Given the description of an element on the screen output the (x, y) to click on. 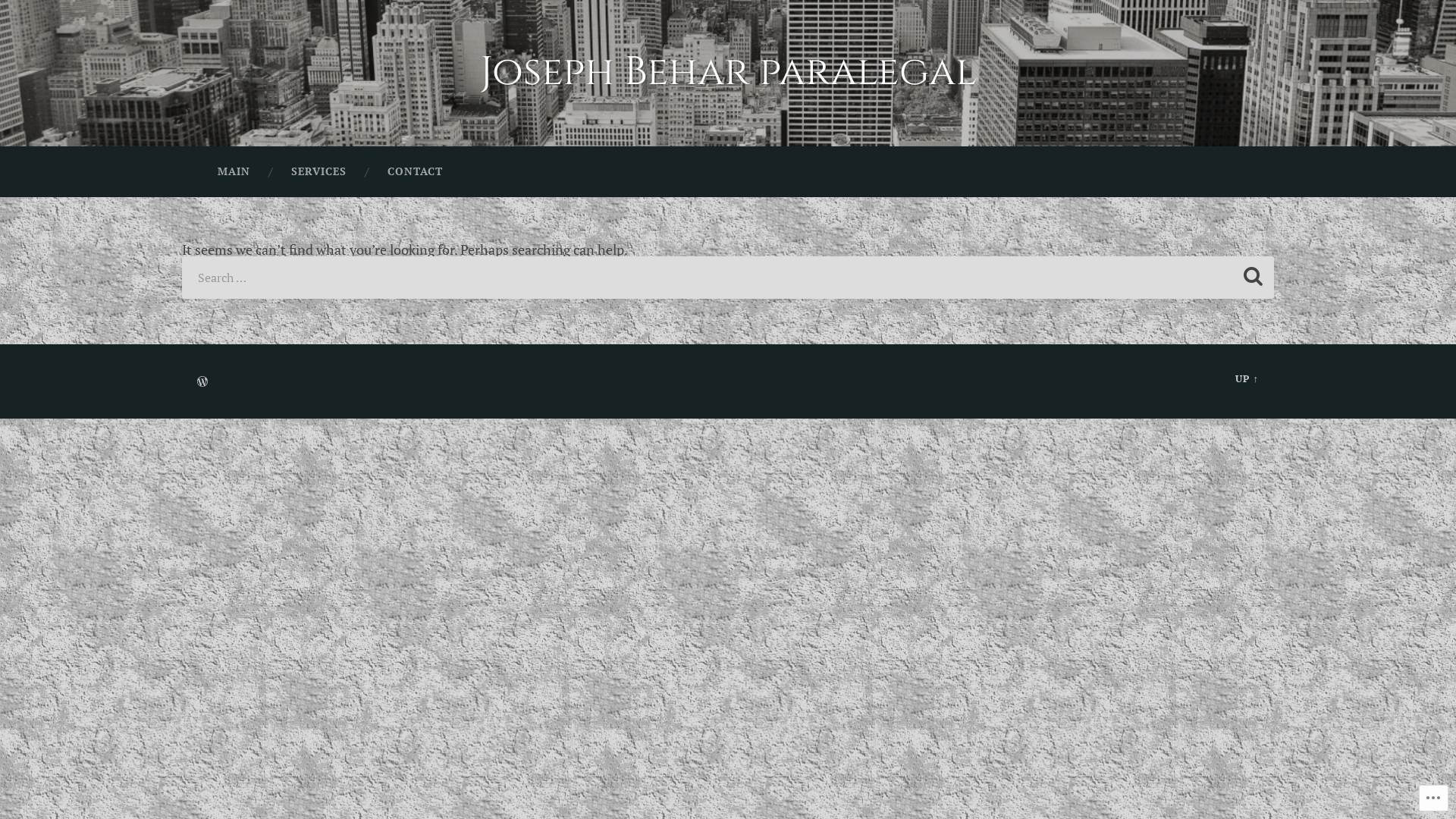
SERVICES Element type: text (318, 171)
Search Element type: text (1252, 277)
MAIN Element type: text (233, 171)
CREATE A WEBSITE OR BLOG AT WORDPRESS.COM Element type: text (202, 382)
CONTACT Element type: text (415, 171)
Joseph Behar paralegal Element type: text (727, 72)
